Given the description of an element on the screen output the (x, y) to click on. 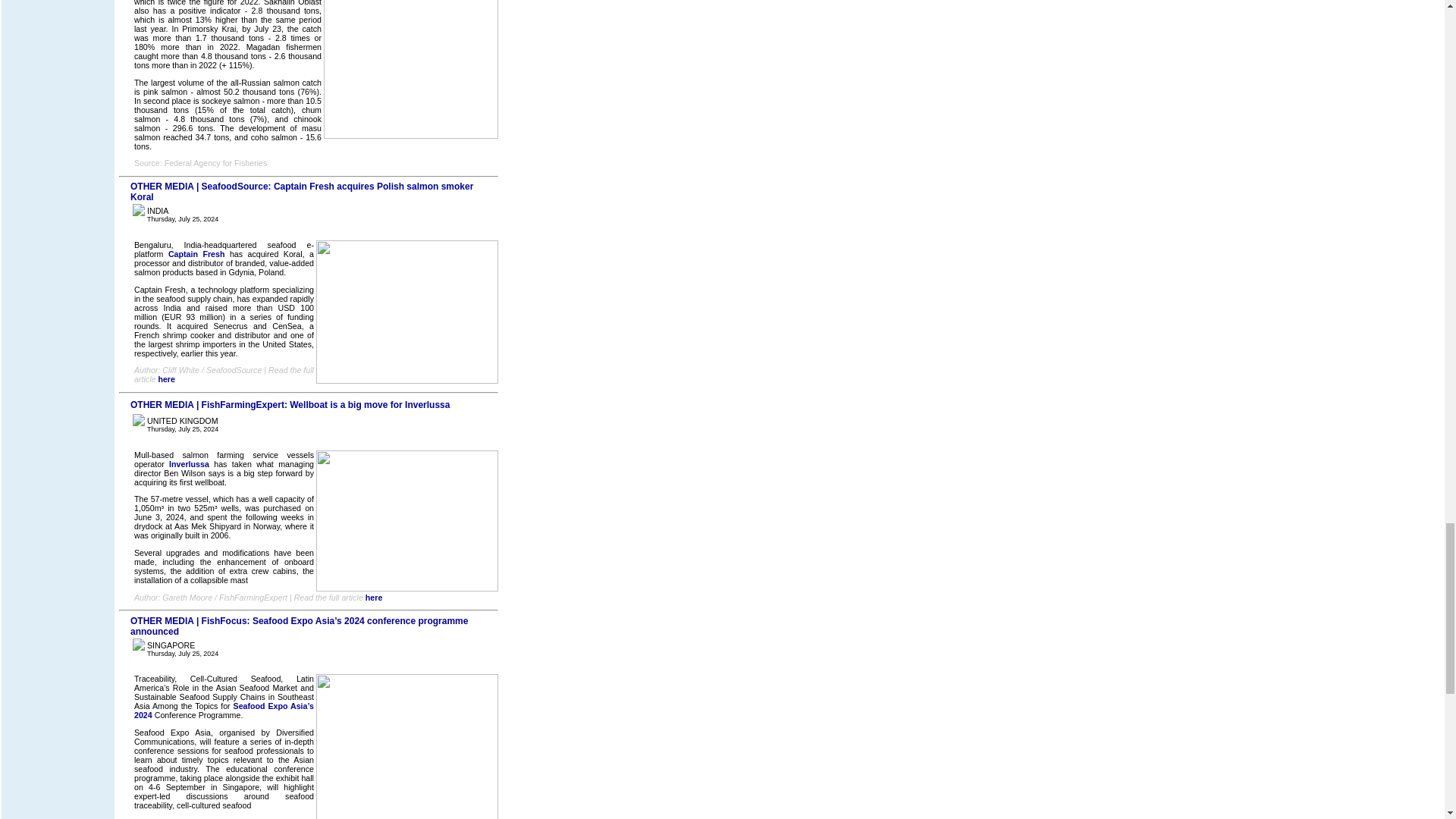
here (165, 379)
here (373, 596)
Inverlussa (188, 463)
Captain Fresh (196, 253)
